Given the description of an element on the screen output the (x, y) to click on. 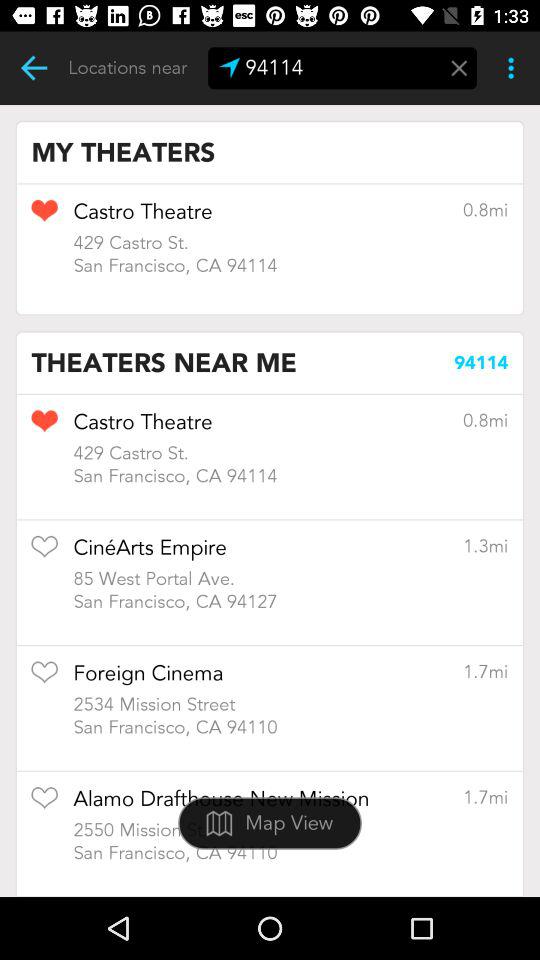
like page (44, 553)
